Given the description of an element on the screen output the (x, y) to click on. 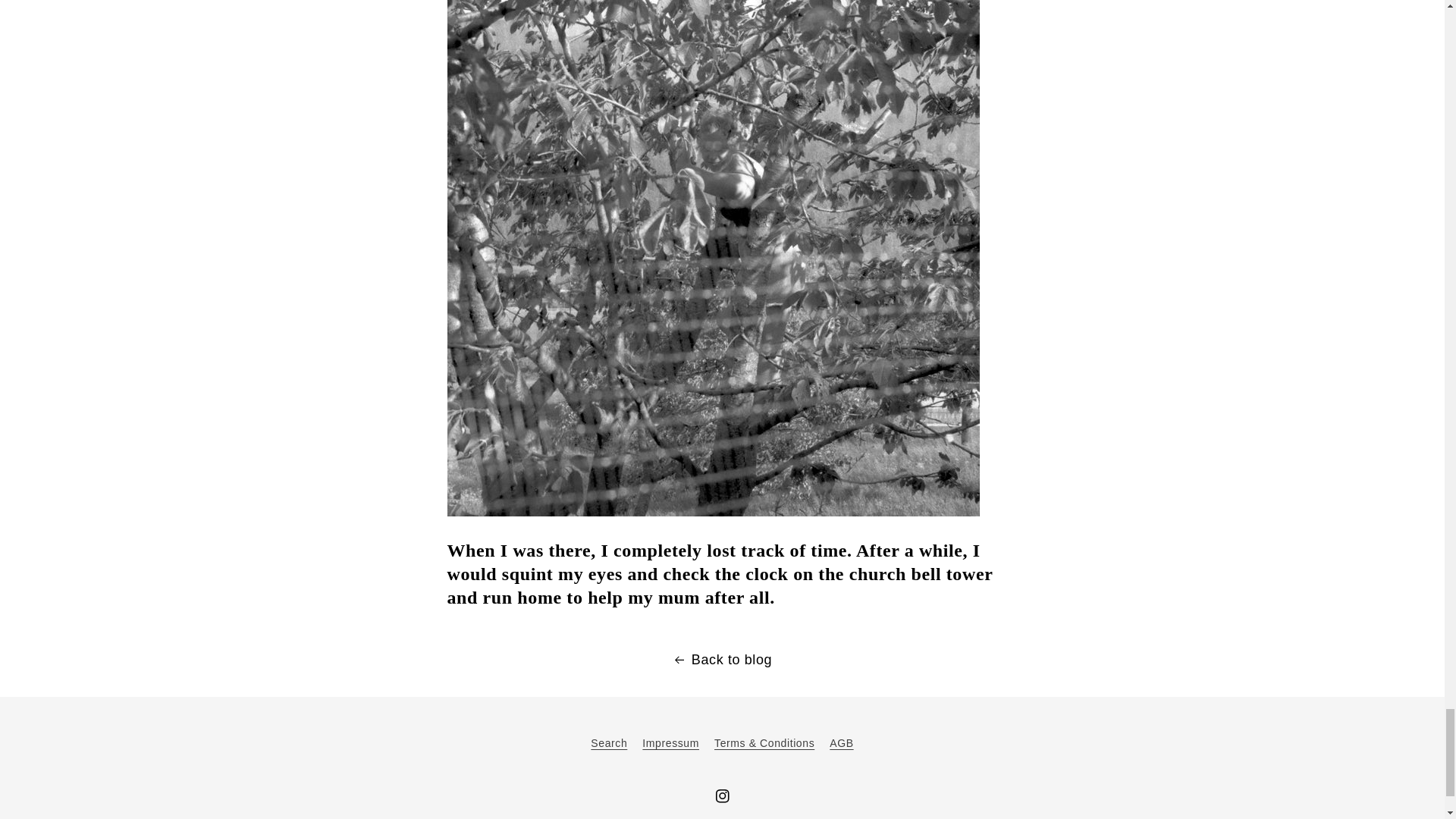
Search (609, 744)
Impressum (670, 742)
Instagram (721, 796)
